Given the description of an element on the screen output the (x, y) to click on. 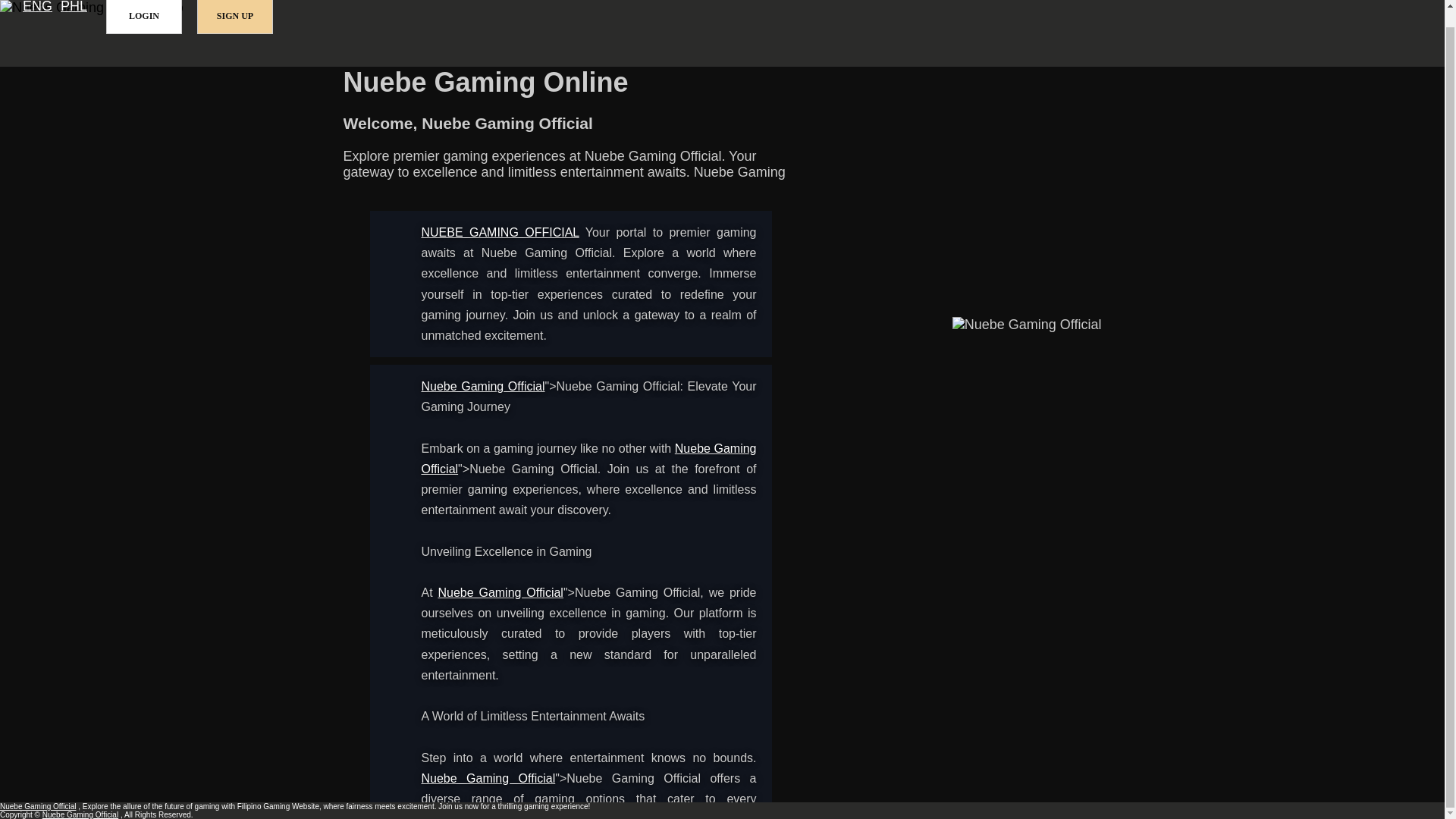
NUEBE GAMING OFFICIAL (500, 232)
Nuebe Gaming Official (589, 458)
Nuebe Gaming Official (500, 592)
Filipino (74, 7)
English (37, 7)
ENG (37, 7)
Nuebe Gaming Official (500, 232)
PHL (74, 7)
LOGIN (144, 17)
SIGN UP (234, 17)
Nuebe Gaming Official (483, 386)
Nuebe Gaming Official (489, 778)
